Given the description of an element on the screen output the (x, y) to click on. 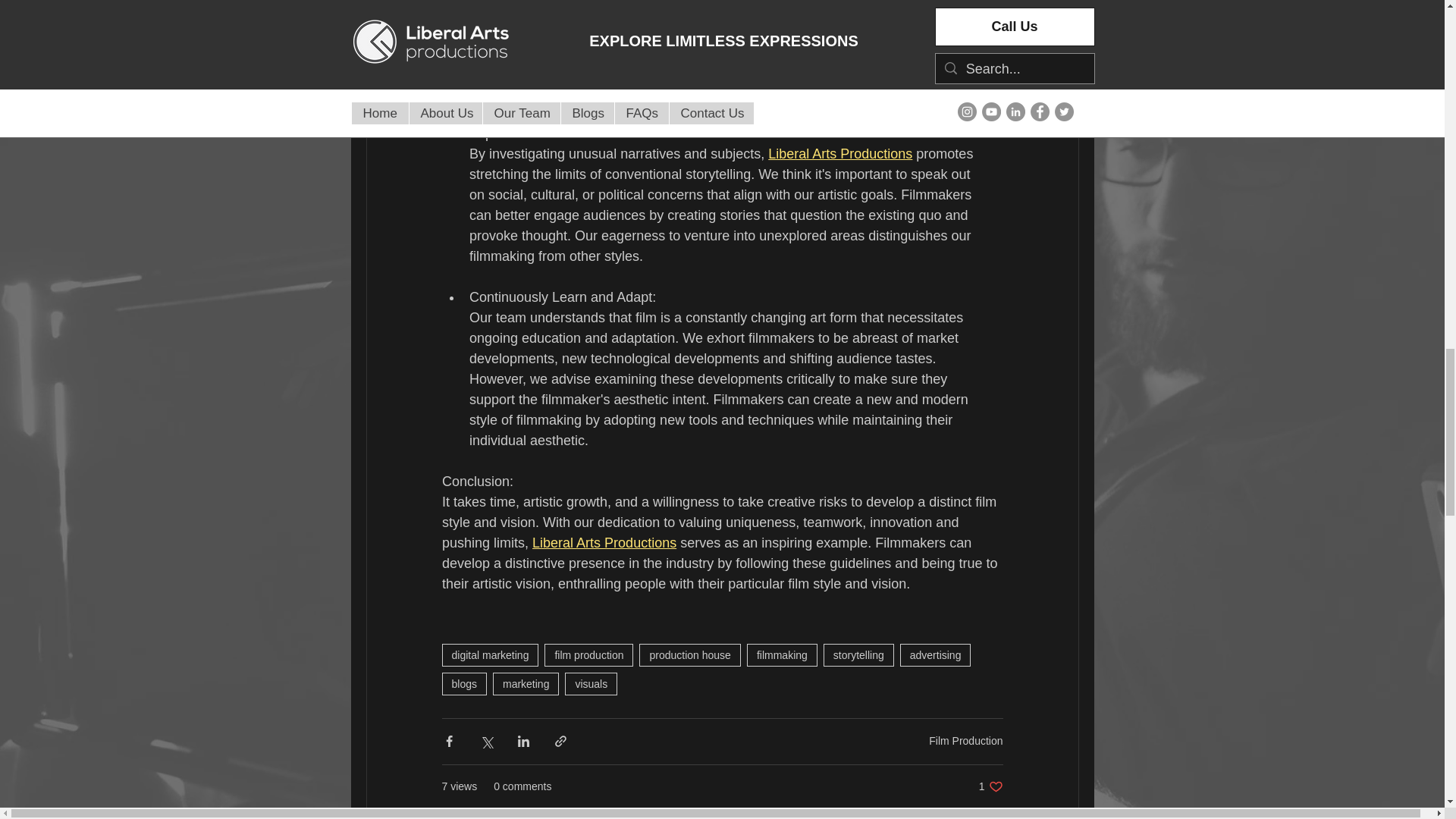
Liberal Arts Productions (840, 153)
blogs (463, 683)
Liberal Arts Productions (604, 542)
advertising (935, 654)
film production (588, 654)
visuals (590, 683)
digital marketing (489, 654)
filmmaking (781, 654)
storytelling (858, 654)
production house (689, 654)
